Given the description of an element on the screen output the (x, y) to click on. 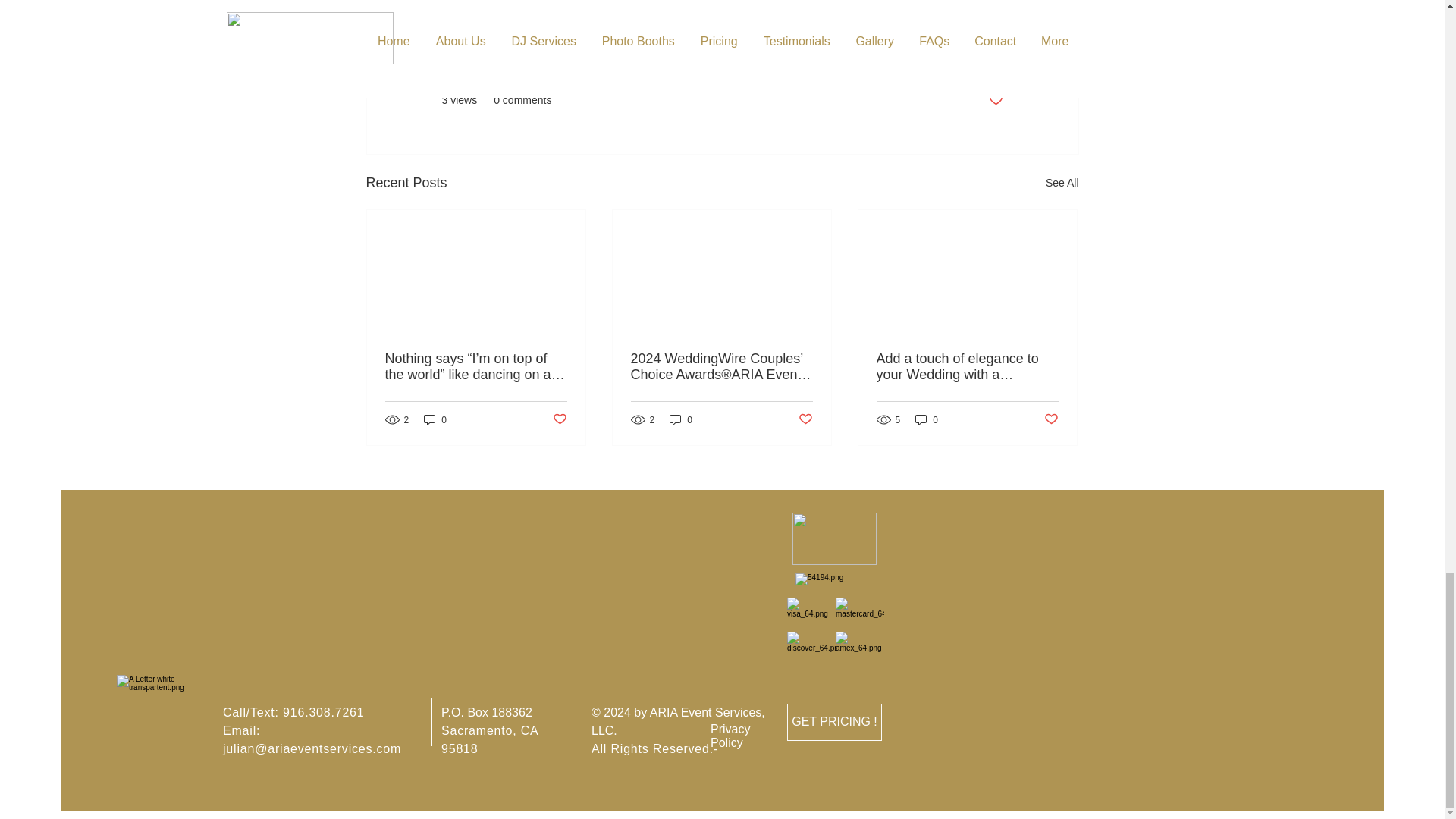
Cold Sparklers (697, 4)
Wedding Dance (598, 4)
See All (1061, 182)
ARIA (463, 4)
0 (435, 419)
venmo.png (833, 585)
Post not marked as liked (995, 100)
lighting (518, 4)
